Given the description of an element on the screen output the (x, y) to click on. 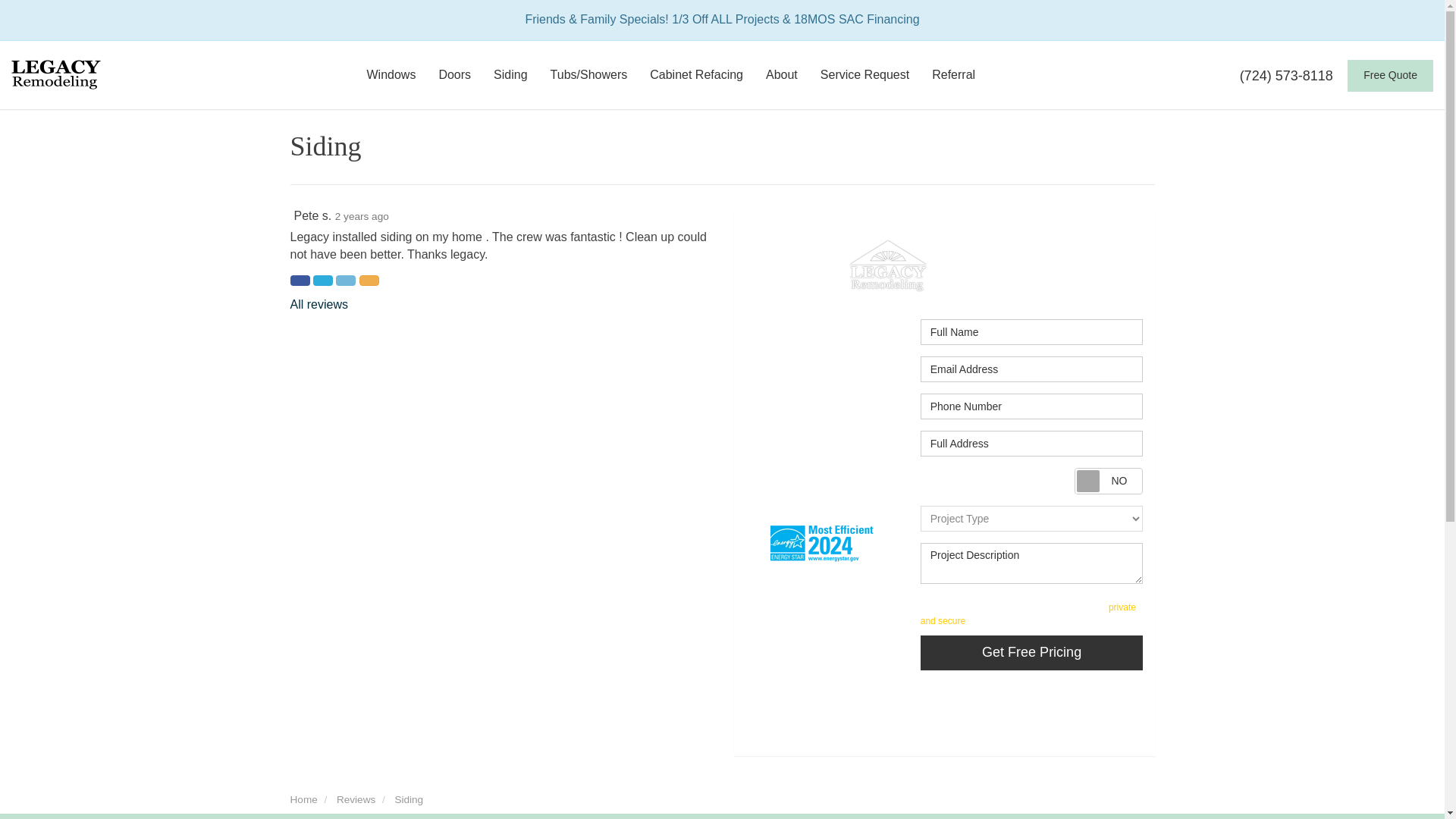
Free Quote (1390, 75)
Free Quote (1390, 75)
Windows (390, 74)
Cabinet Refacing (696, 74)
